Given the description of an element on the screen output the (x, y) to click on. 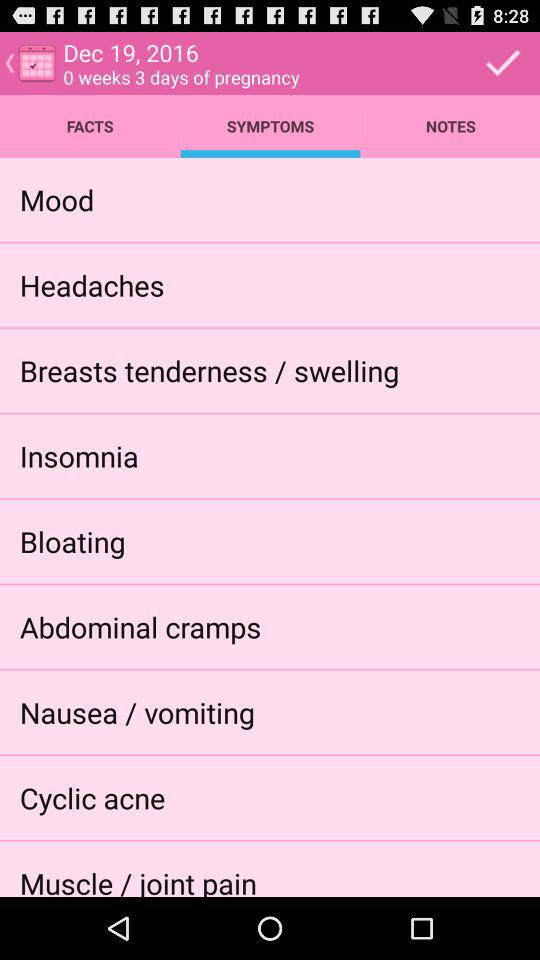
tap the nausea / vomiting icon (136, 712)
